Given the description of an element on the screen output the (x, y) to click on. 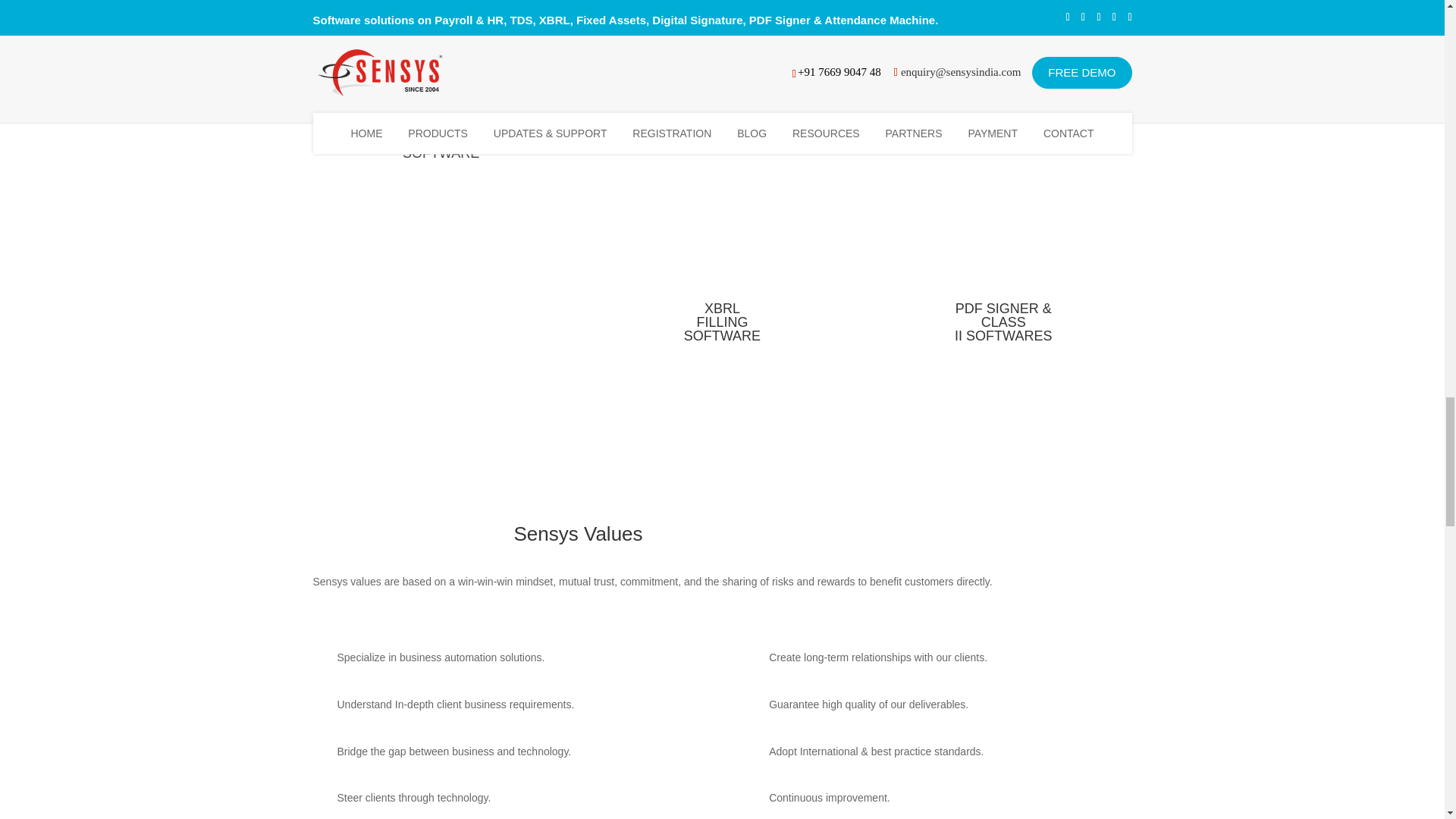
FIXED ASSET MANAGEMENT SOFTWARE (440, 145)
PAYROLL MANAGEMENT SOFTWARE (616, 12)
COMPLETE CRM SOFTWARE (1038, 12)
TDS MANAGEMENT SOFTWARE (826, 12)
